Given the description of an element on the screen output the (x, y) to click on. 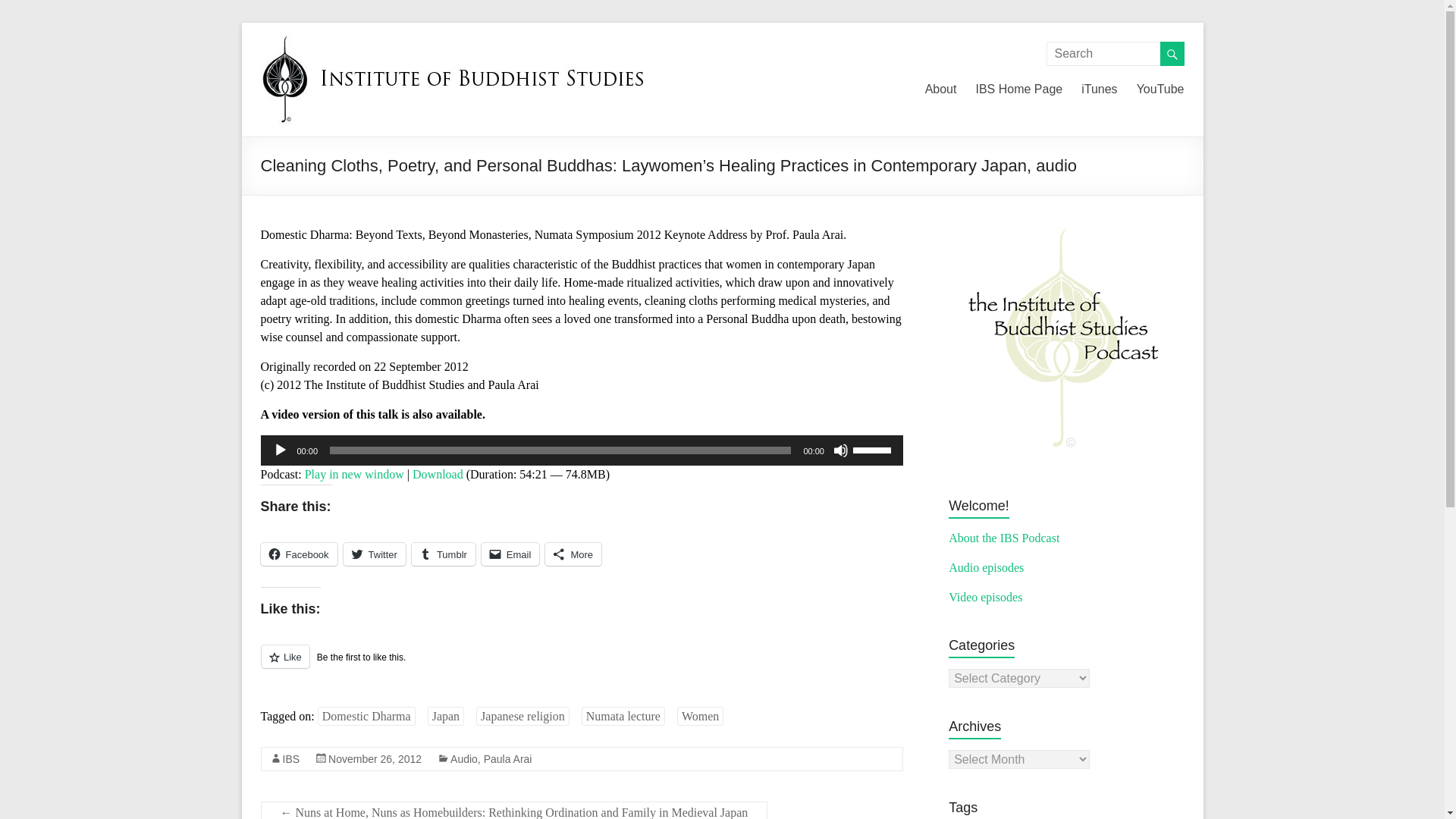
Audio episodes (986, 567)
Video episodes (985, 596)
Download (437, 473)
Play in new window (354, 473)
Email (510, 553)
Click to email a link to a friend (510, 553)
Download (437, 473)
Click to share on Twitter (374, 553)
November 26, 2012 (375, 758)
Women (700, 715)
